Given the description of an element on the screen output the (x, y) to click on. 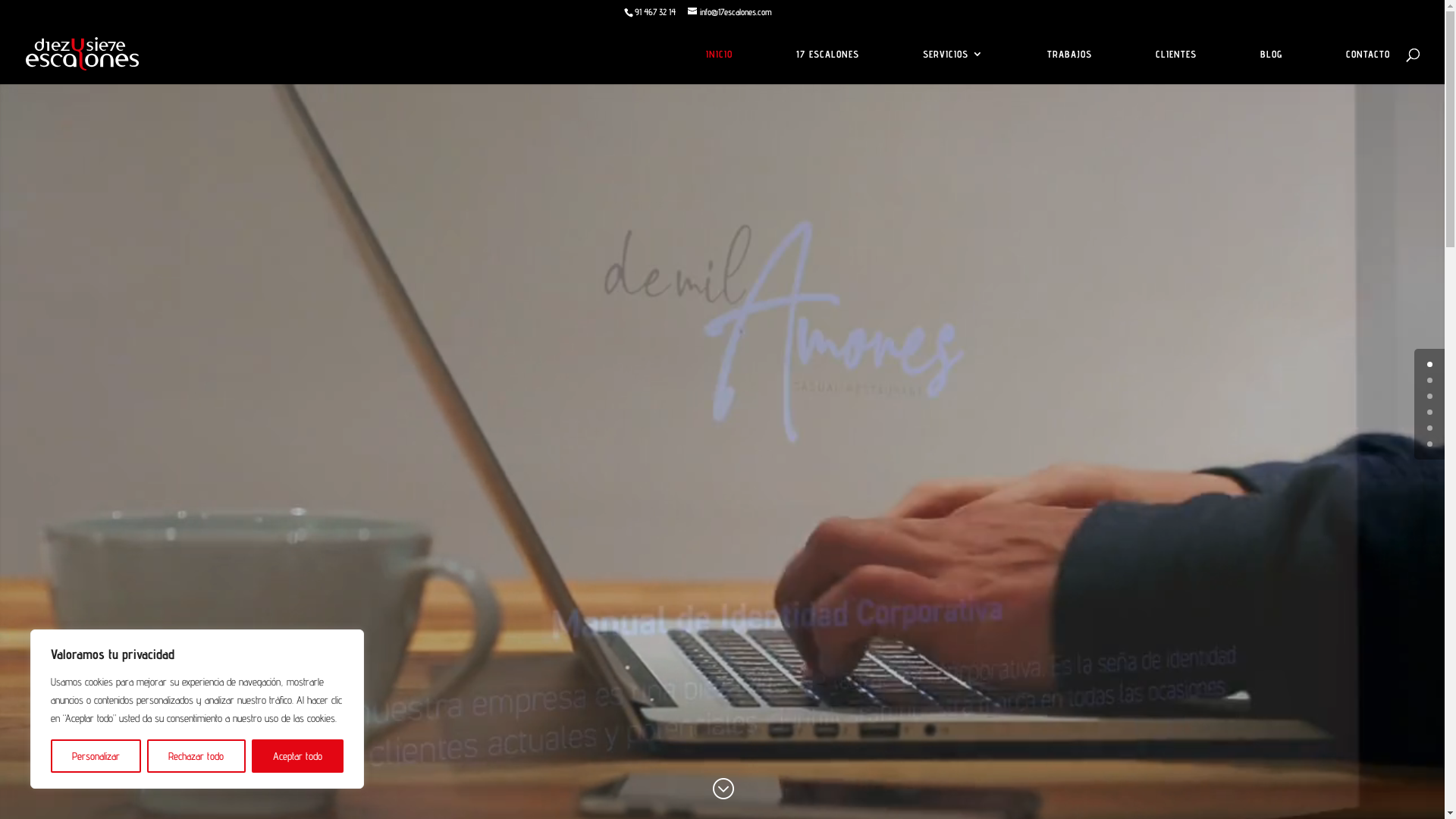
INICIO Element type: text (719, 66)
3 Element type: text (1429, 411)
Personalizar Element type: text (95, 755)
4 Element type: text (1429, 427)
Aceptar todo Element type: text (297, 755)
0 Element type: text (1429, 364)
2 Element type: text (1429, 395)
Rechazar todo Element type: text (195, 755)
17 ESCALONES Element type: text (827, 66)
CLIENTES Element type: text (1175, 66)
SERVICIOS Element type: text (952, 66)
5 Element type: text (1429, 443)
1 Element type: text (1429, 379)
TRABAJOS Element type: text (1069, 66)
; Element type: text (722, 789)
CONTACTO Element type: text (1368, 66)
BLOG Element type: text (1271, 66)
info@17escalones.com Element type: text (729, 11)
